Given the description of an element on the screen output the (x, y) to click on. 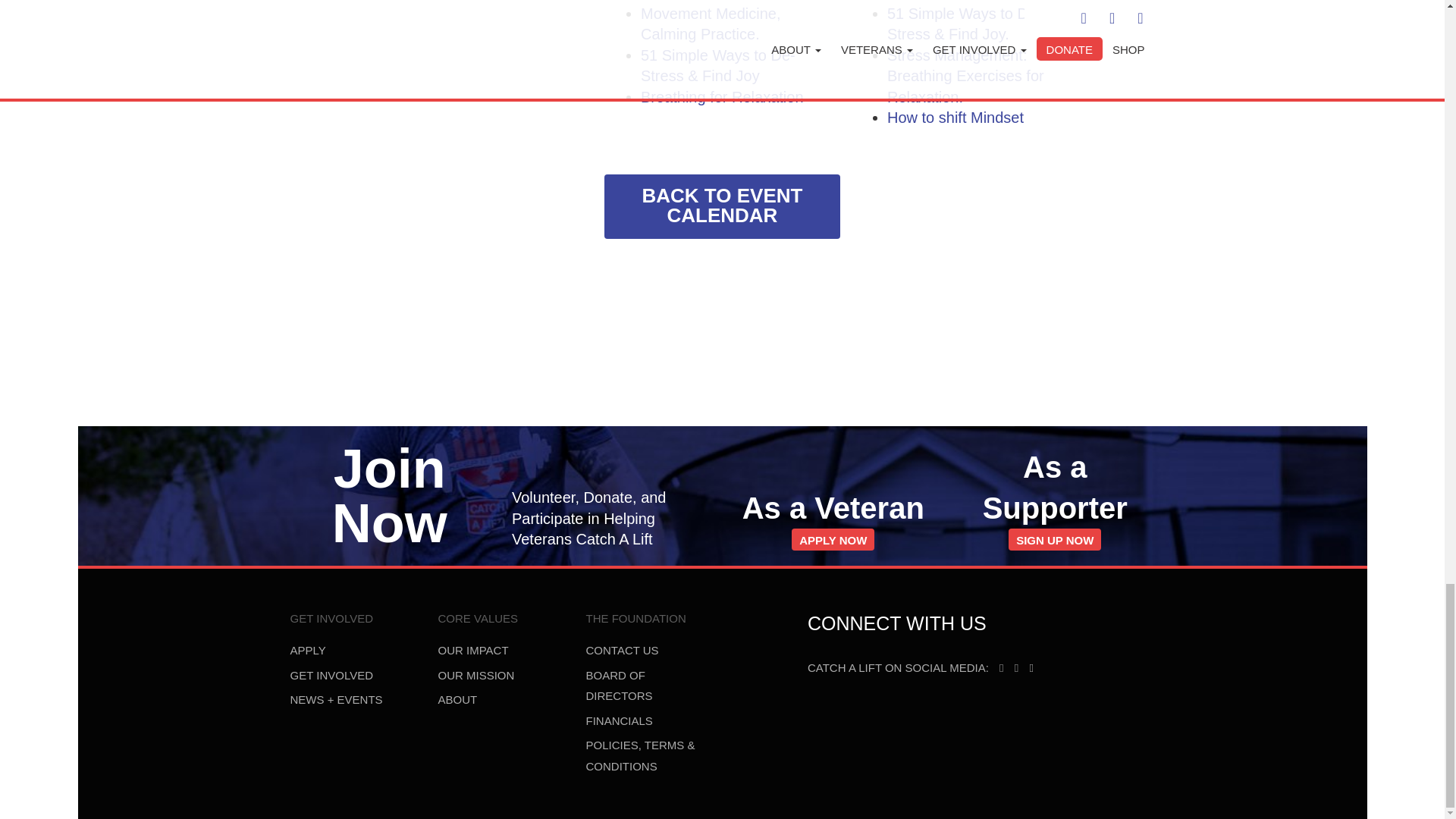
Breathing for Relaxation (721, 96)
Movement Medicine, Calming Practice. (710, 23)
APPLY NOW (722, 206)
Stress Management: Breathing Exercises for Relaxation. (833, 539)
How to shift Mindset (964, 75)
